Given the description of an element on the screen output the (x, y) to click on. 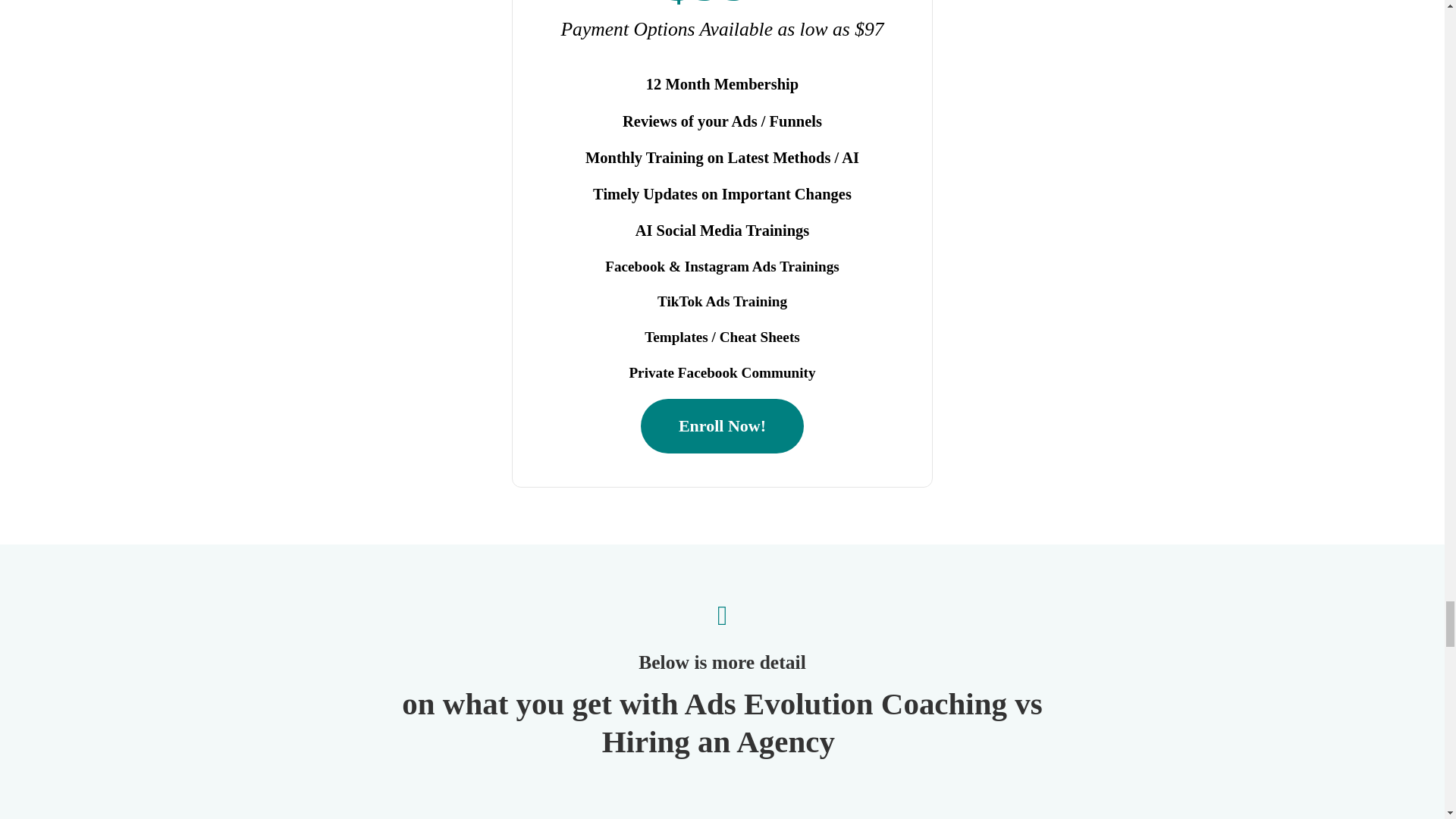
Enroll Now! (721, 425)
